Given the description of an element on the screen output the (x, y) to click on. 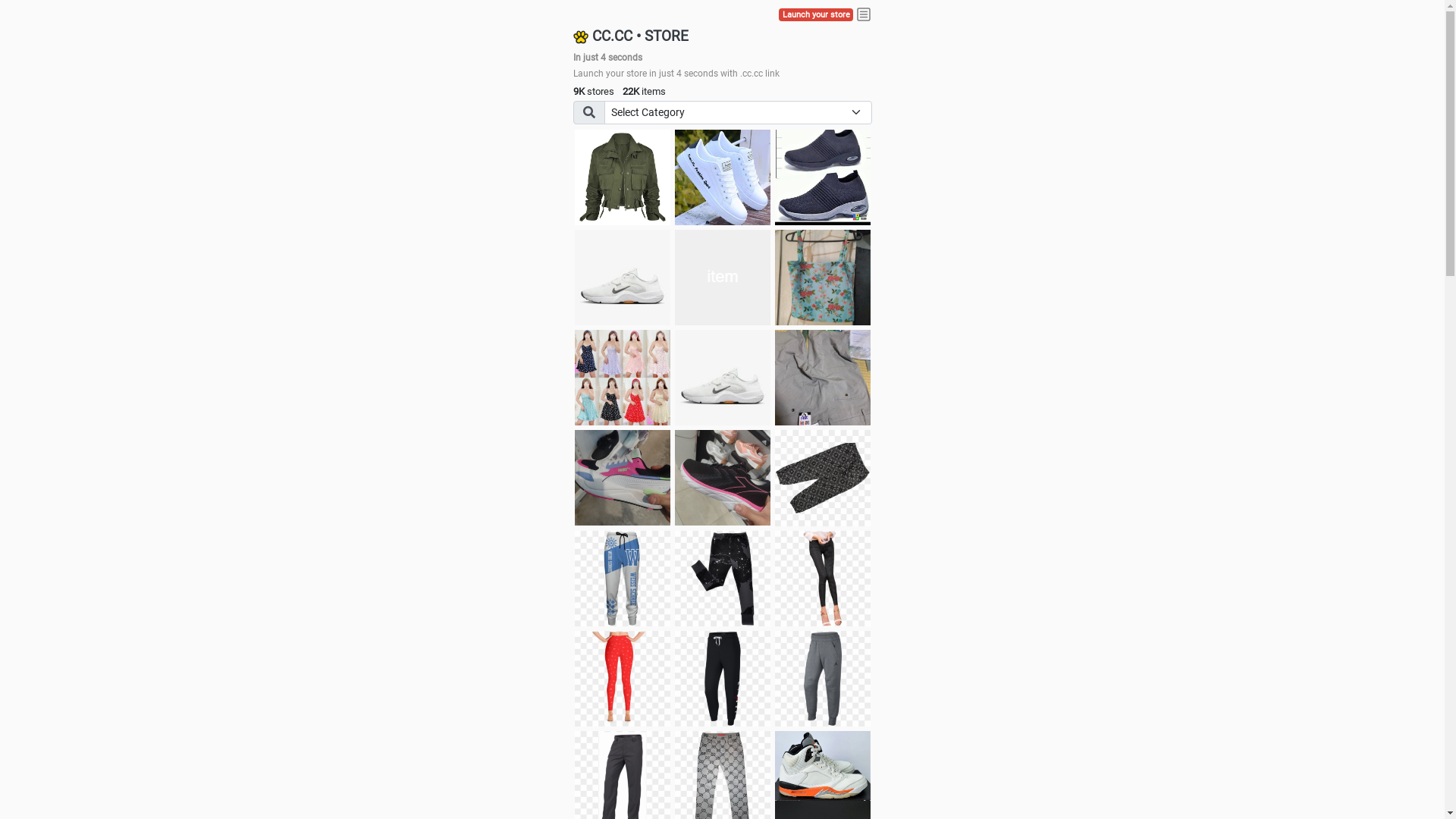
shoes for boys Element type: hover (822, 177)
Zapatillas Element type: hover (722, 477)
Pant Element type: hover (622, 578)
Shoes Element type: hover (722, 377)
Zapatillas pumas Element type: hover (622, 477)
Ukay cloth Element type: hover (822, 277)
Pant Element type: hover (722, 578)
Pant Element type: hover (622, 678)
Shoes for boys Element type: hover (622, 277)
Things we need Element type: hover (722, 277)
Short pant Element type: hover (822, 477)
Pant Element type: hover (822, 678)
Pant Element type: hover (822, 578)
Dress/square nect top Element type: hover (622, 377)
white shoes Element type: hover (722, 177)
jacket Element type: hover (622, 177)
Pant Element type: hover (722, 678)
Launch your store Element type: text (815, 14)
